Given the description of an element on the screen output the (x, y) to click on. 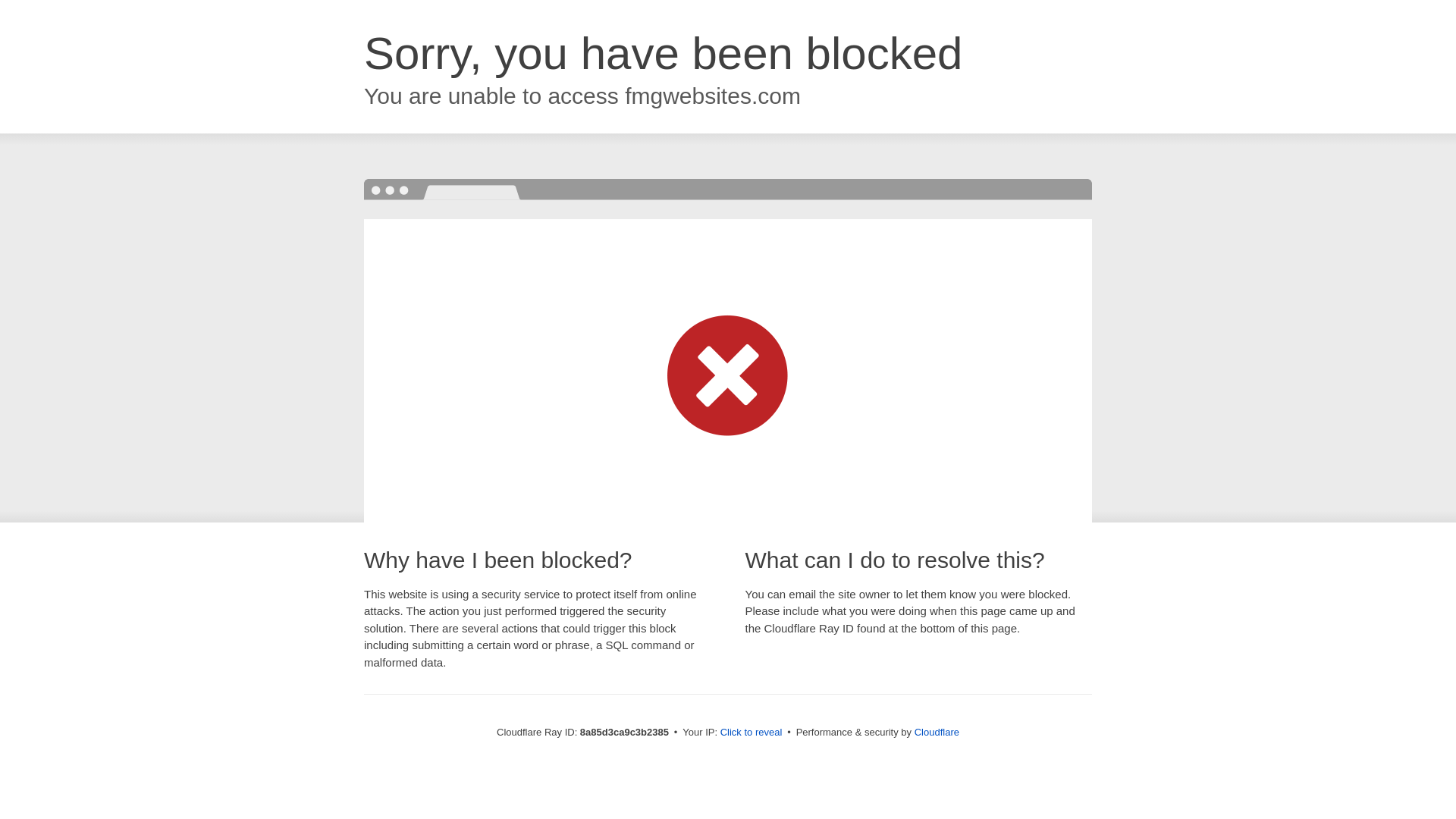
Click to reveal (751, 732)
Cloudflare (936, 731)
